Given the description of an element on the screen output the (x, y) to click on. 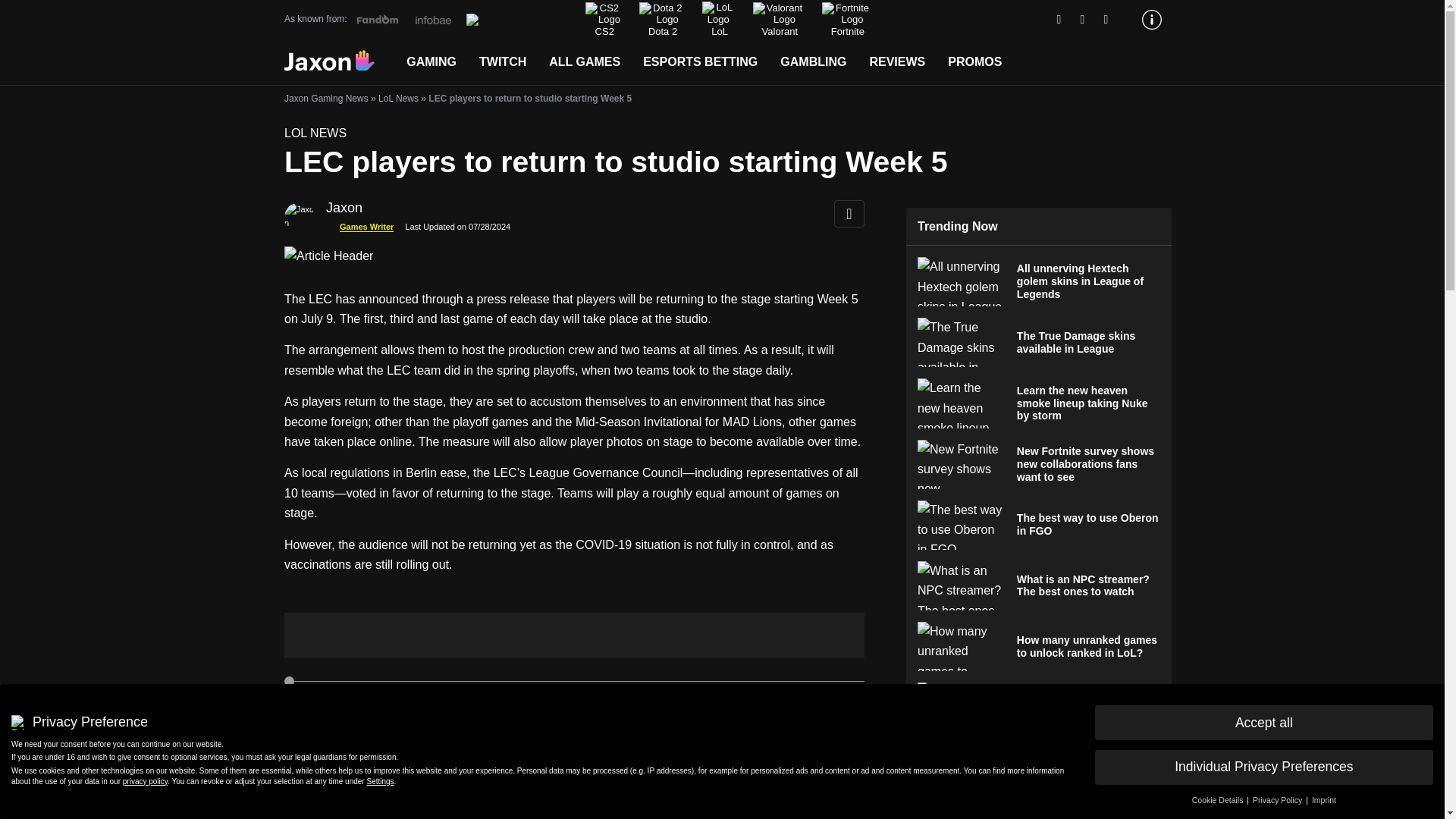
 Valorant (777, 19)
 Dota 2 (661, 19)
 LoL (718, 18)
Twitter (1082, 19)
Google News (1058, 19)
TikTok (1105, 19)
TWITCH (502, 62)
 CS2 (603, 19)
 Fortnite (846, 19)
GAMING (430, 62)
GAMBLING (812, 62)
